Given the description of an element on the screen output the (x, y) to click on. 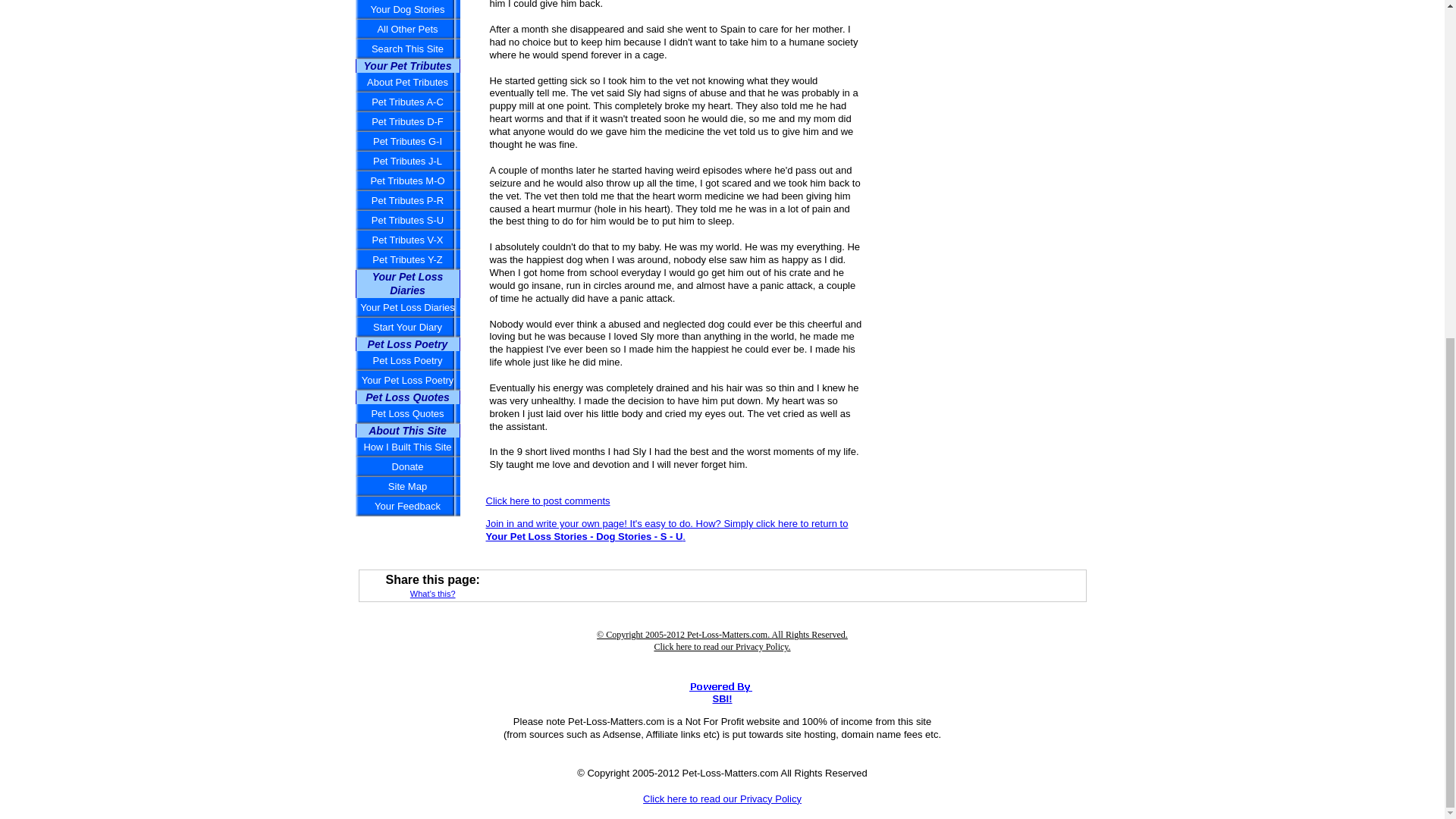
Pet Tributes V-X (407, 240)
Your Dog Stories (407, 9)
Pet Tributes M-O (407, 180)
Pet Tributes Y-Z (407, 260)
Pet Tributes P-R (407, 200)
About Pet Tributes (407, 82)
Pet Tributes G-I (407, 141)
Pet Tributes S-U (407, 220)
Pet Tributes A-C (407, 102)
Pet Tributes J-L (407, 161)
